Given the description of an element on the screen output the (x, y) to click on. 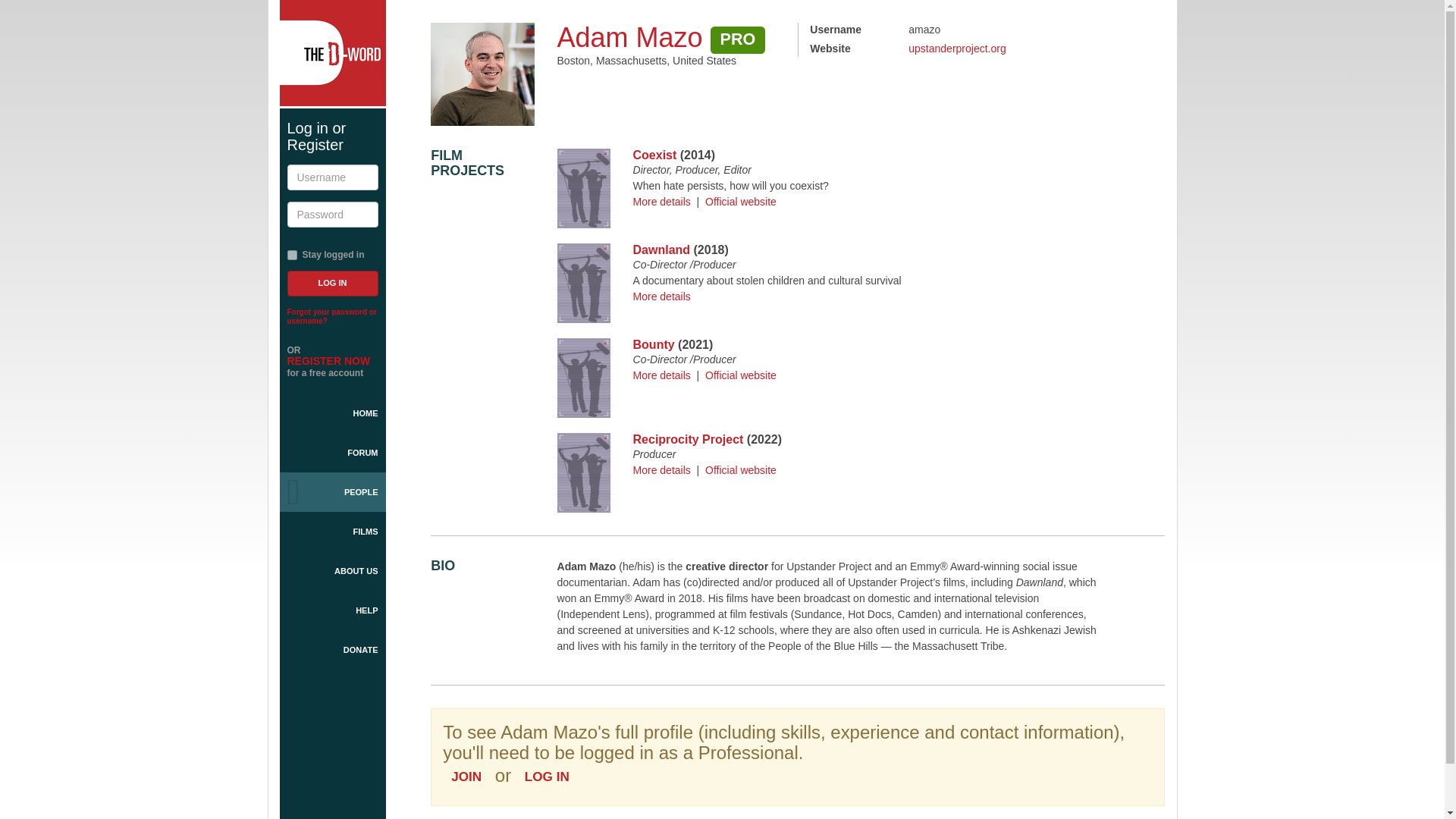
ABOUT US (332, 570)
Dawnland (661, 249)
Reciprocity Project (688, 439)
Log In (331, 283)
FORUM (332, 452)
More details (661, 296)
More details (661, 375)
Official website (740, 201)
REGISTER NOW (327, 360)
Official website (740, 469)
HELP (332, 609)
Coexist (655, 154)
Forgot your password or username? (330, 316)
1 (291, 255)
More details (661, 469)
